Given the description of an element on the screen output the (x, y) to click on. 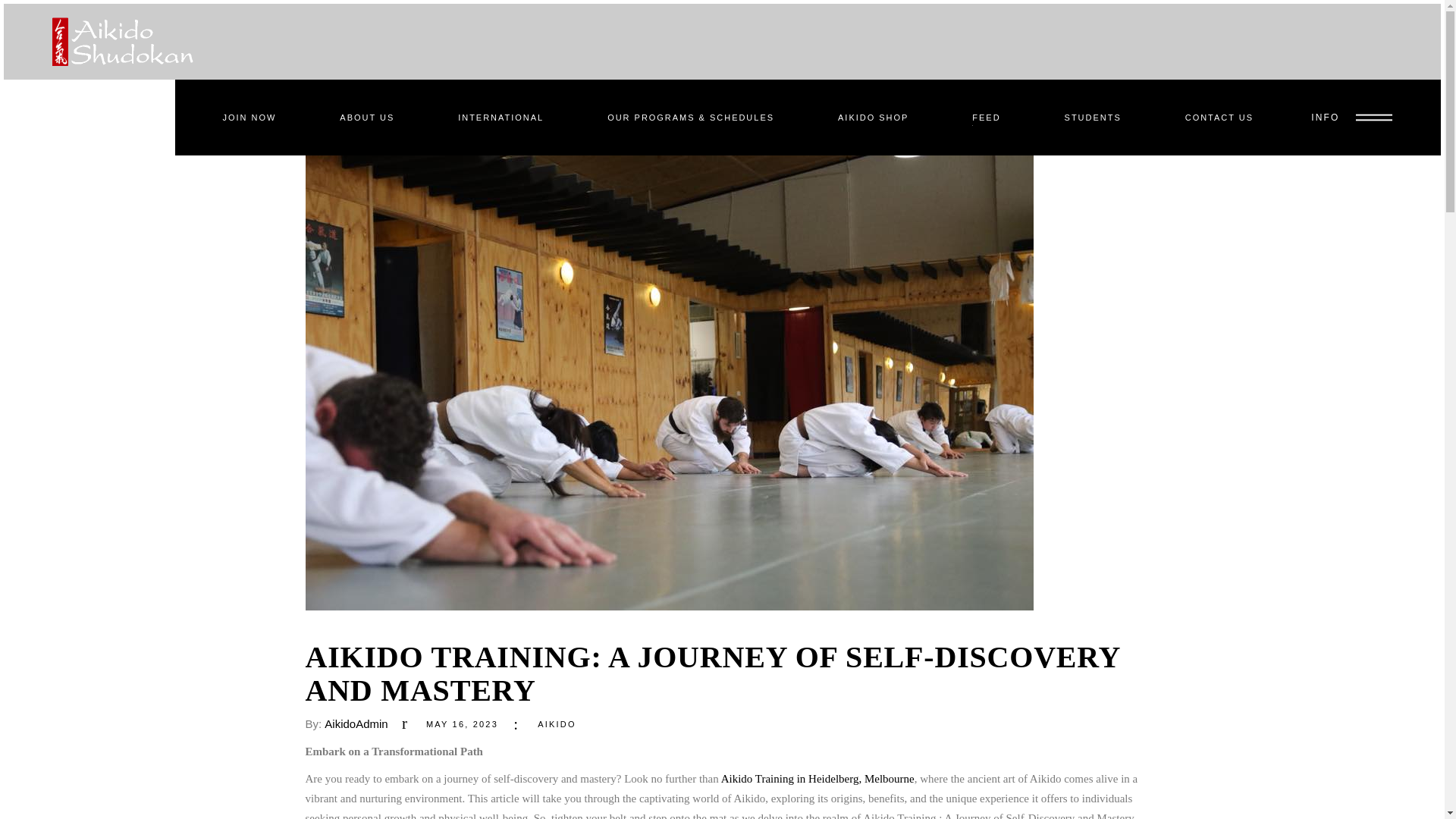
AIKIDO SHOP (873, 117)
ABOUT US (366, 117)
JOIN NOW (248, 117)
INTERNATIONAL (500, 117)
FEED (986, 117)
